Given the description of an element on the screen output the (x, y) to click on. 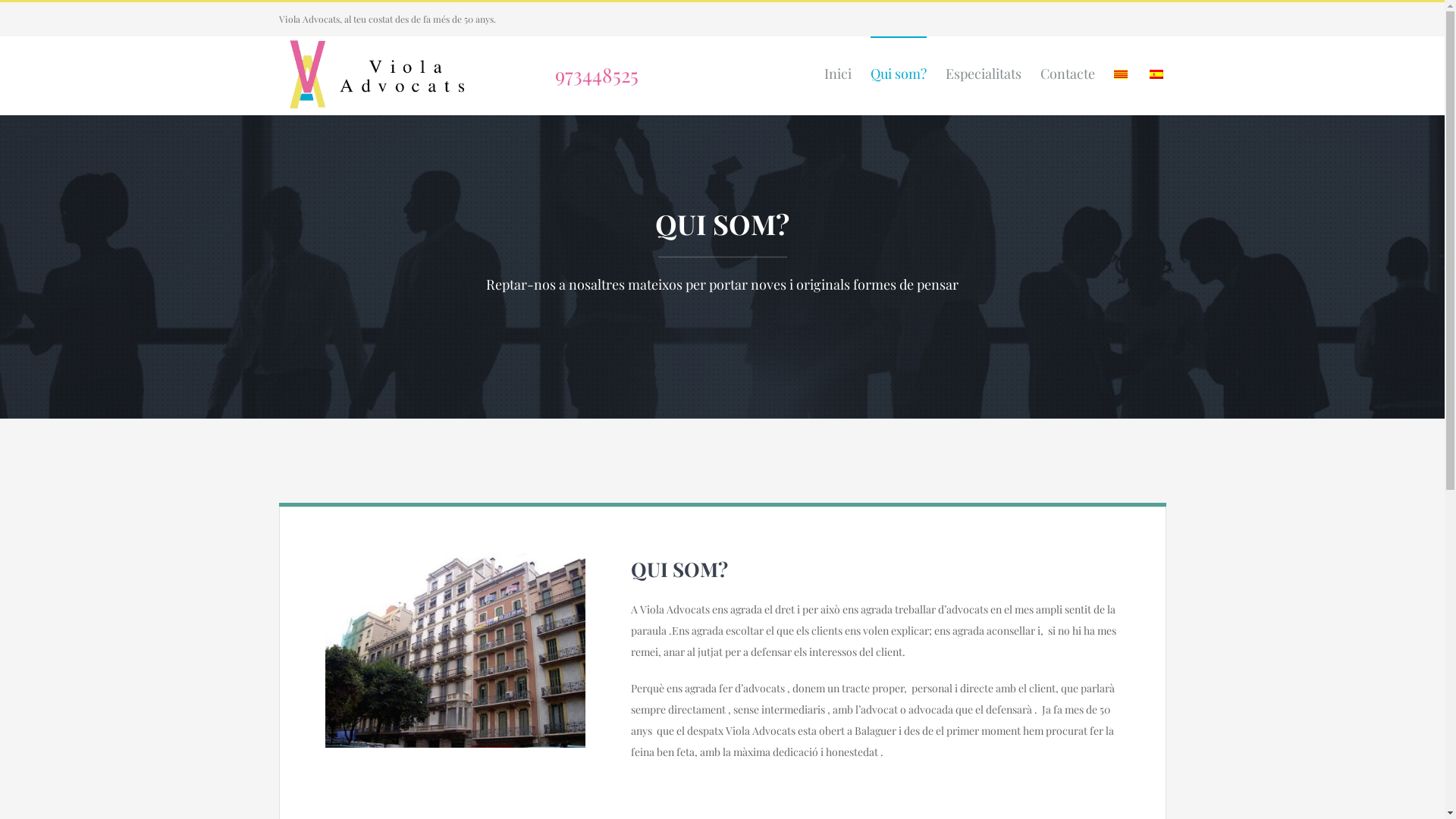
Qui som? Element type: text (898, 72)
Contacte Element type: text (1067, 72)
973448525 Element type: text (566, 74)
Inici Element type: text (836, 72)
Especialitats Element type: text (982, 72)
